Given the description of an element on the screen output the (x, y) to click on. 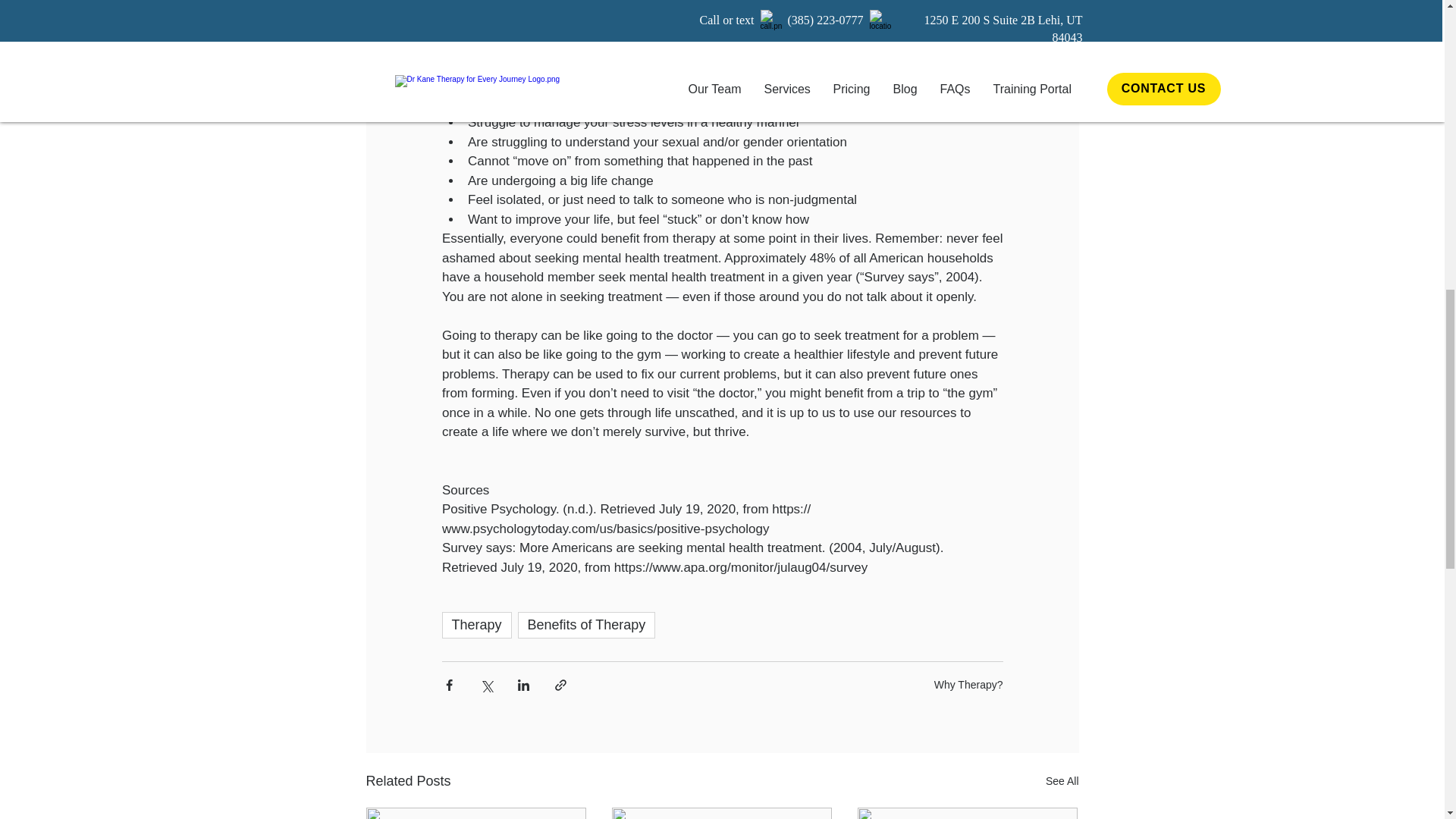
See All (1061, 781)
Benefits of Therapy (587, 624)
Why Therapy? (968, 684)
Therapy (476, 624)
